Given the description of an element on the screen output the (x, y) to click on. 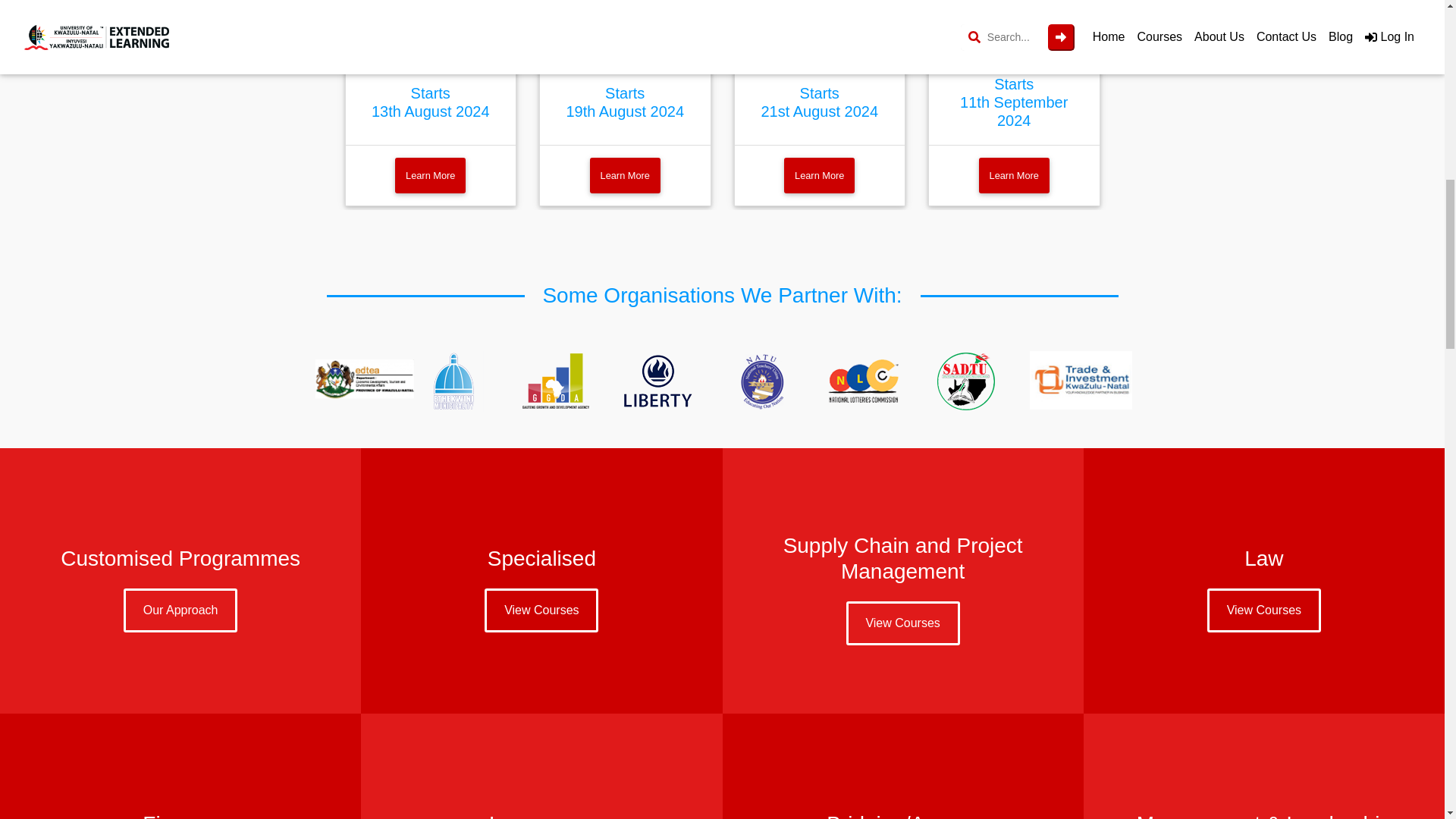
Certificate in Forensic Investigation Techniques (624, 13)
High Impact: Women in Leadership (430, 9)
Learn More (429, 175)
Learn More (1013, 175)
Learn More (819, 175)
Learn More (625, 175)
